Given the description of an element on the screen output the (x, y) to click on. 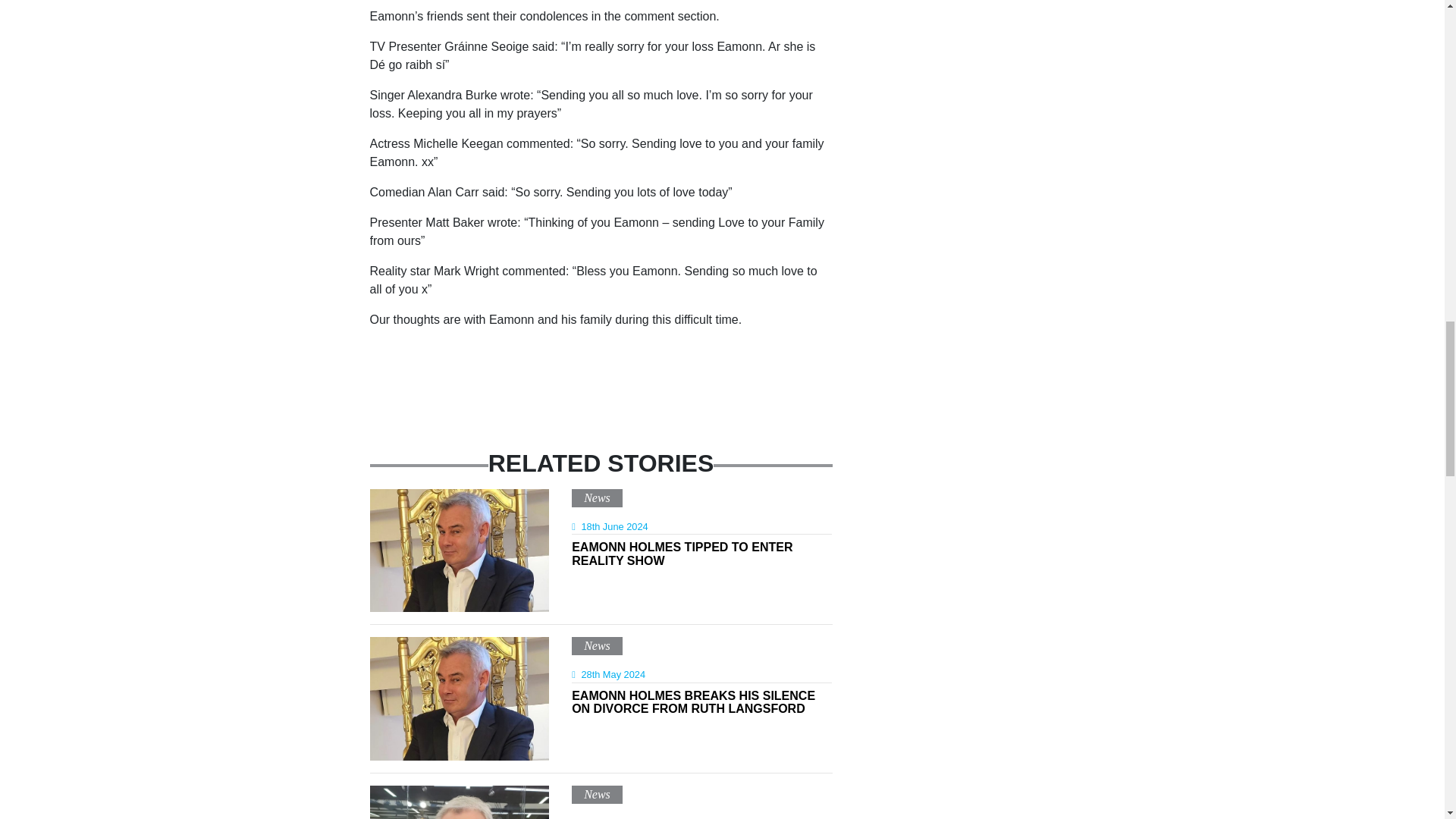
News (596, 645)
News (596, 793)
News (701, 557)
